Given the description of an element on the screen output the (x, y) to click on. 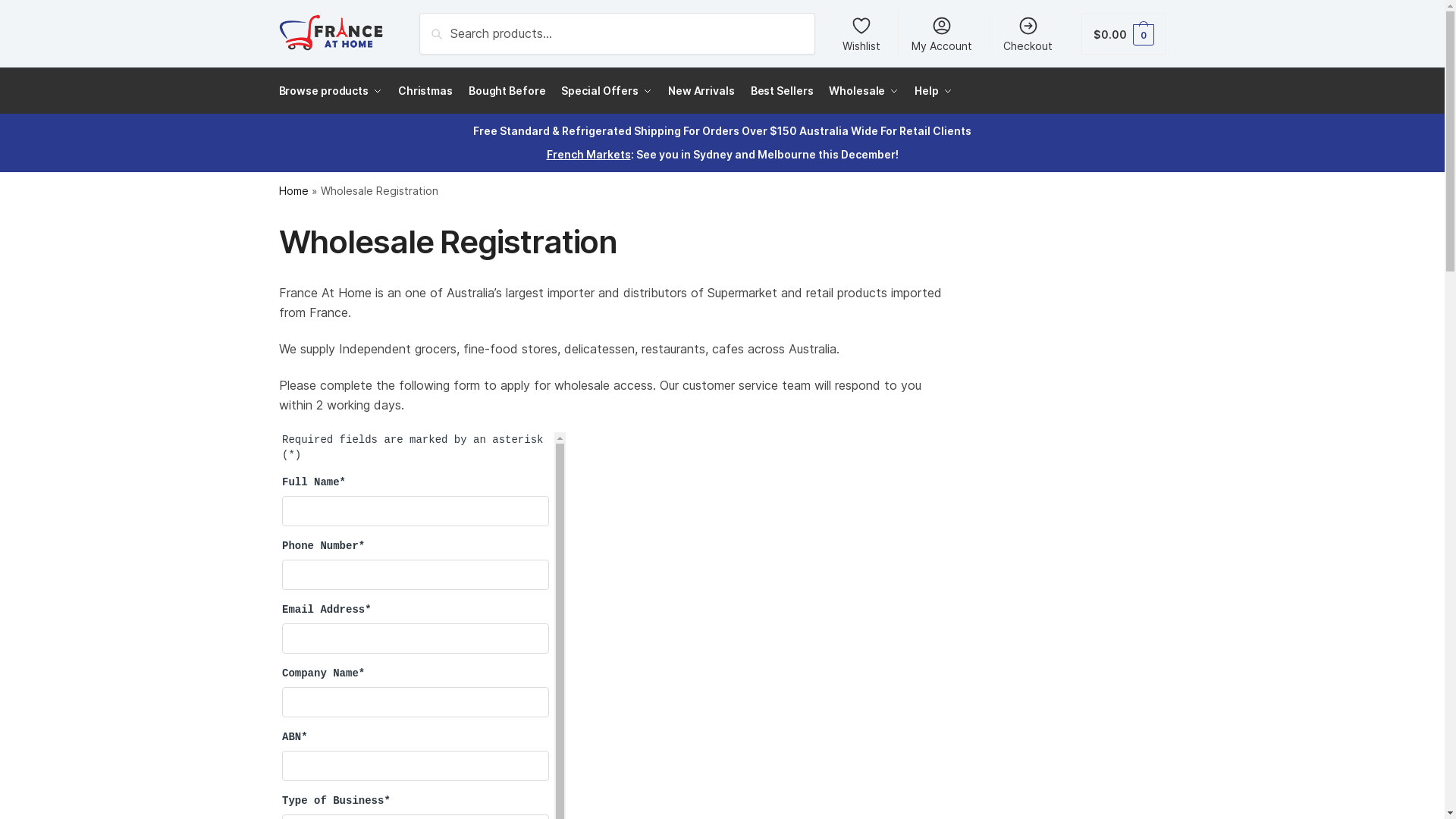
$0.00 0 Element type: text (1123, 33)
Wishlist Element type: text (861, 33)
Best Sellers Element type: text (781, 90)
Help Element type: text (933, 90)
New Arrivals Element type: text (701, 90)
Search Element type: text (443, 23)
French Markets Element type: text (588, 153)
Wholesale Element type: text (863, 90)
My Account Element type: text (942, 33)
Checkout Element type: text (1028, 33)
Special Offers Element type: text (606, 90)
Bought Before Element type: text (506, 90)
Browse products Element type: text (333, 90)
Christmas Element type: text (425, 90)
Home Element type: text (293, 190)
